Given the description of an element on the screen output the (x, y) to click on. 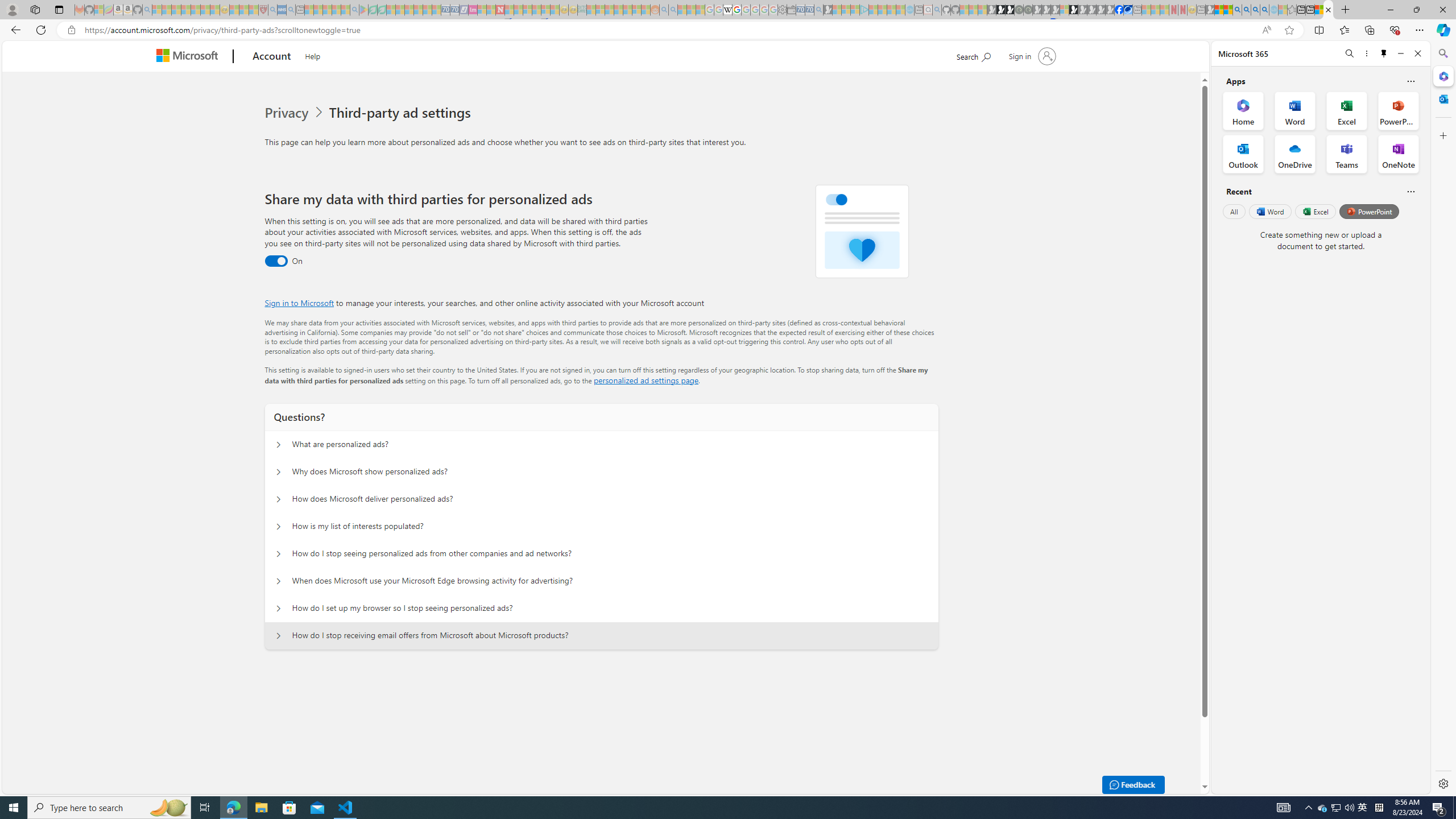
Is this helpful? (1410, 191)
